Given the description of an element on the screen output the (x, y) to click on. 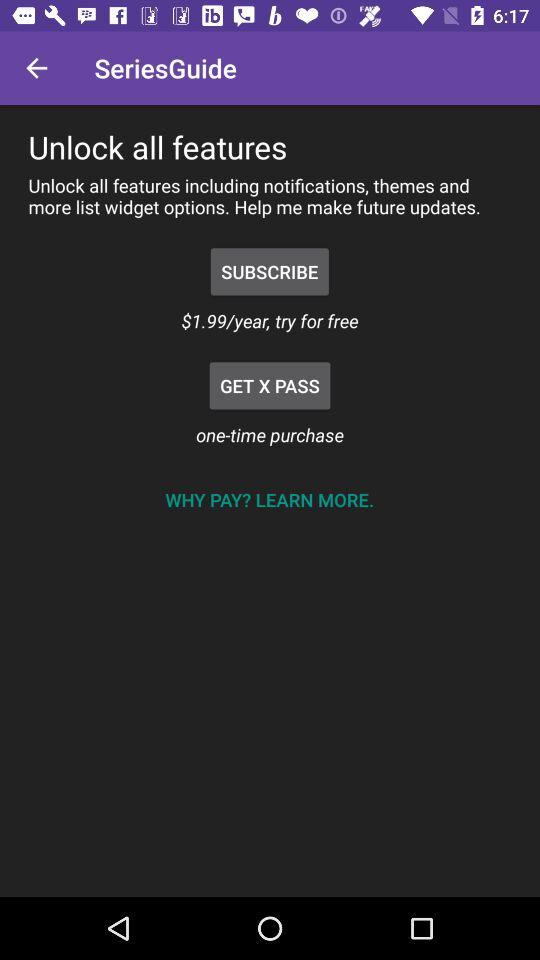
swipe to subscribe icon (269, 271)
